Given the description of an element on the screen output the (x, y) to click on. 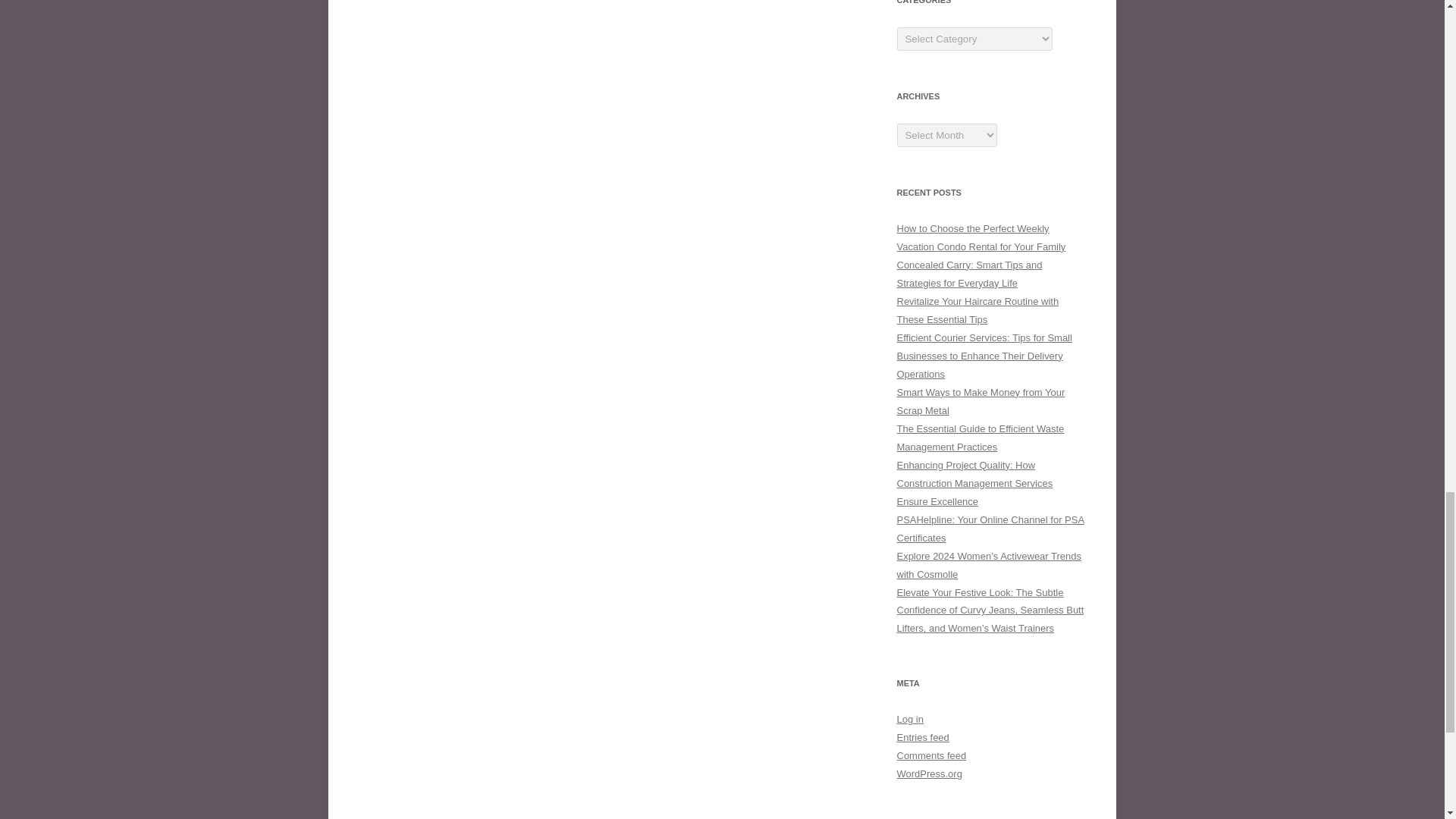
The Essential Guide to Efficient Waste Management Practices (980, 437)
Concealed Carry: Smart Tips and Strategies for Everyday Life (969, 274)
Comments feed (931, 755)
Entries feed (922, 737)
Smart Ways to Make Money from Your Scrap Metal (980, 401)
PSAHelpline: Your Online Channel for PSA Certificates (990, 528)
Revitalize Your Haircare Routine with These Essential Tips (977, 310)
